Given the description of an element on the screen output the (x, y) to click on. 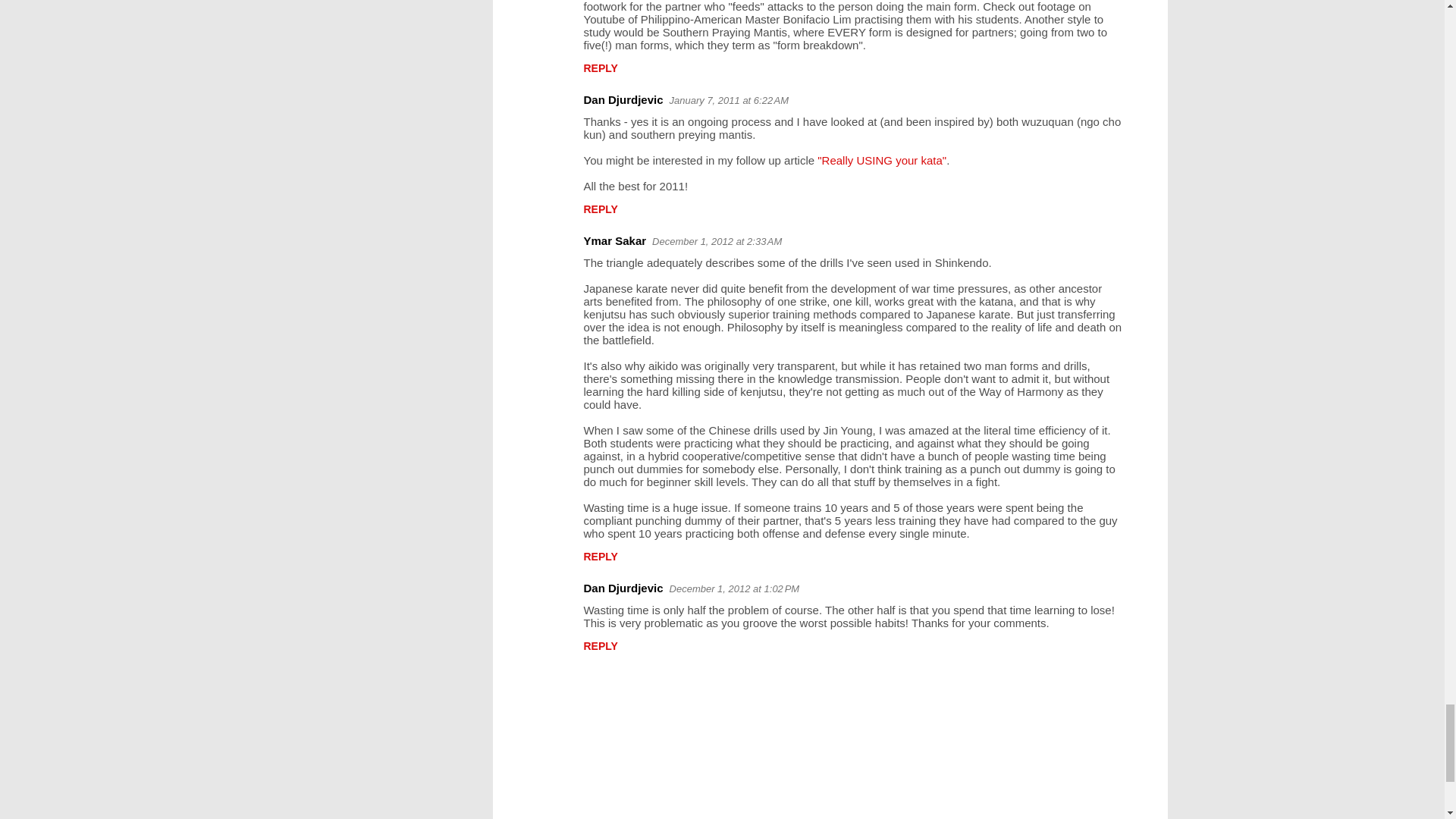
REPLY (600, 68)
REPLY (600, 209)
"Really USING your kata" (881, 160)
Dan Djurdjevic (623, 99)
